Given the description of an element on the screen output the (x, y) to click on. 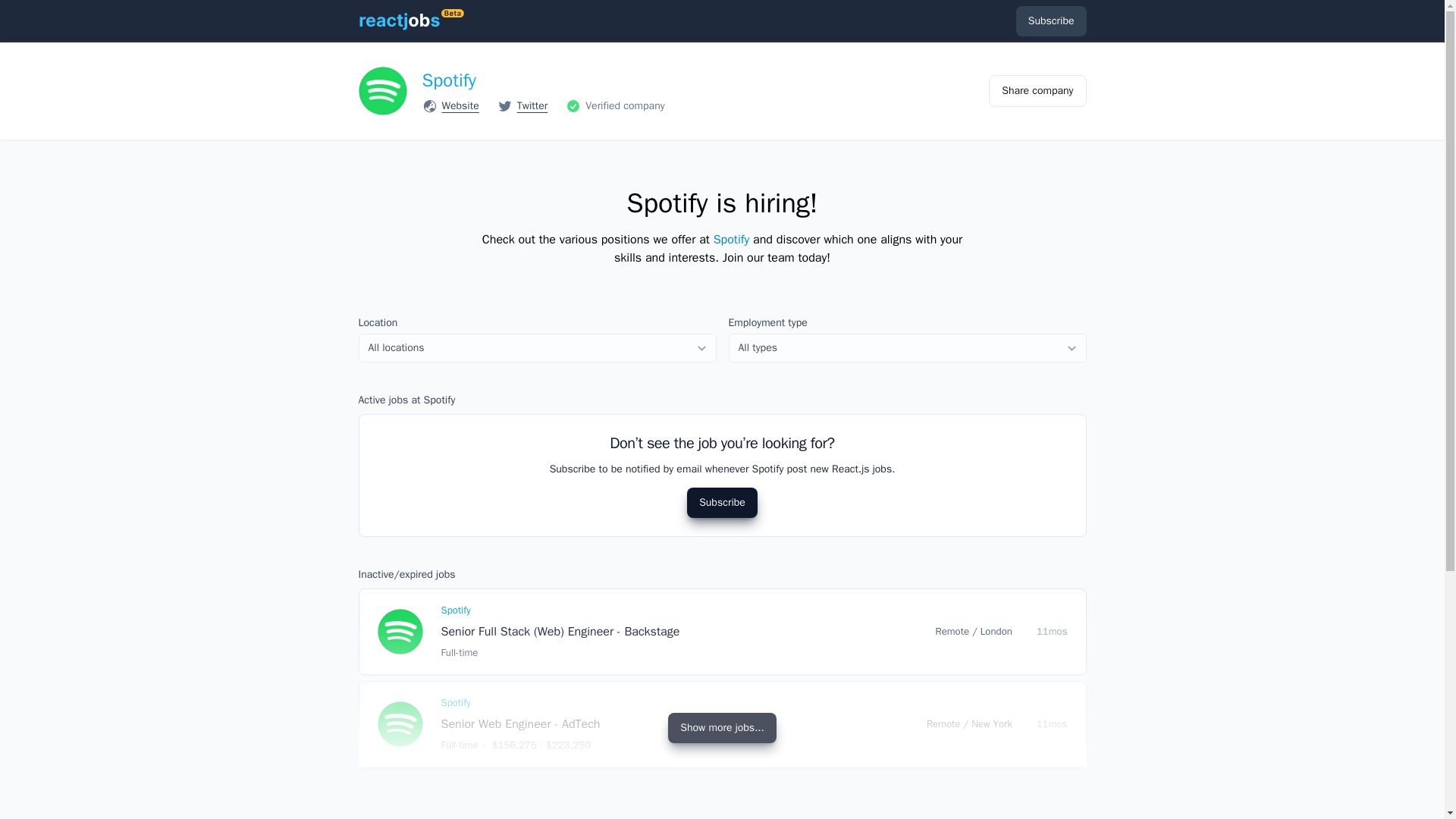
Subscribe (1051, 20)
Senior Web Engineer - AdTech (520, 724)
Spotify (449, 79)
Website (460, 105)
Twitter (532, 105)
Subscribe (722, 502)
Show more jobs... (722, 727)
Share company (1037, 91)
